Given the description of an element on the screen output the (x, y) to click on. 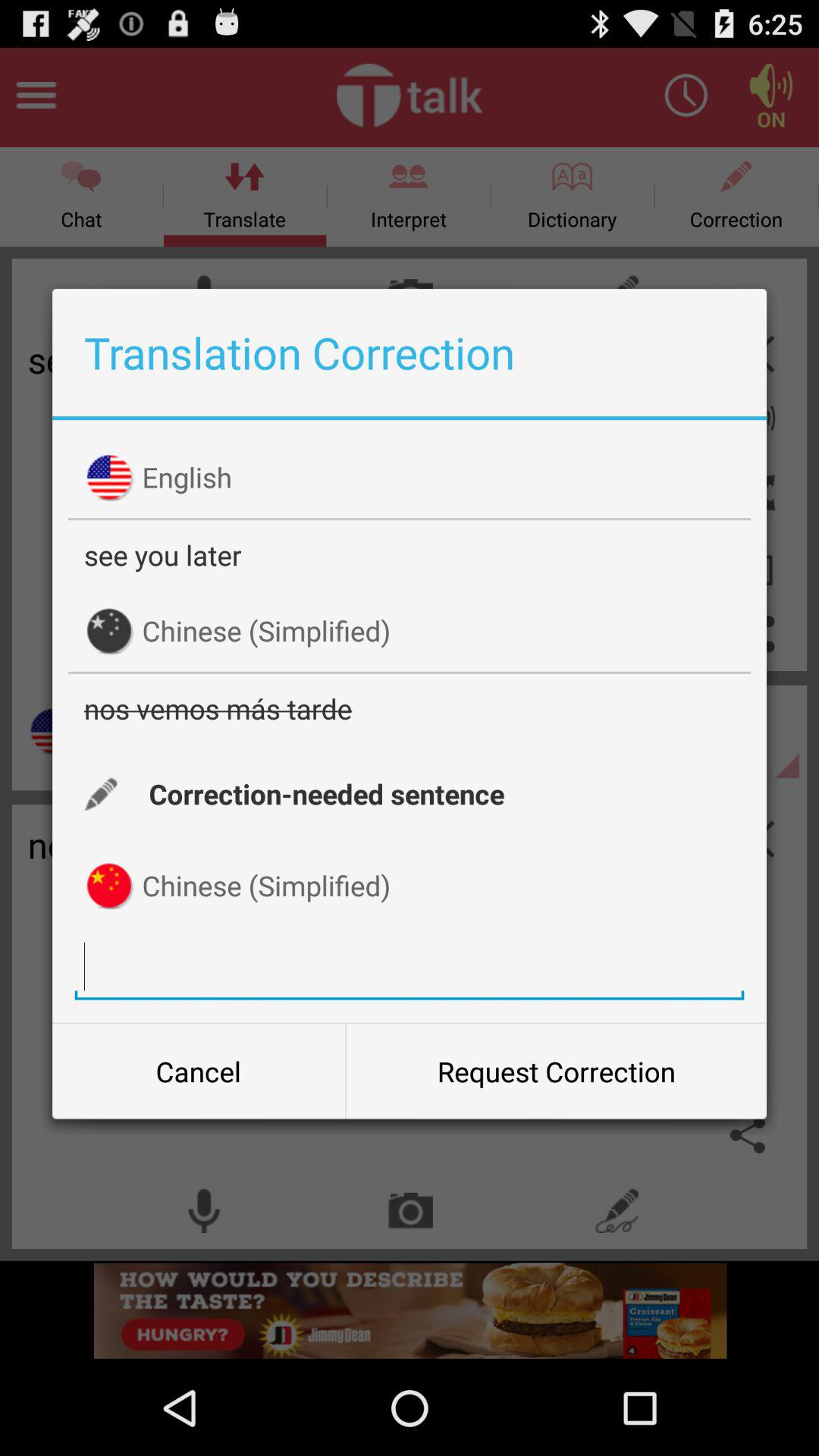
turn off the item to the right of the cancel button (556, 1071)
